Given the description of an element on the screen output the (x, y) to click on. 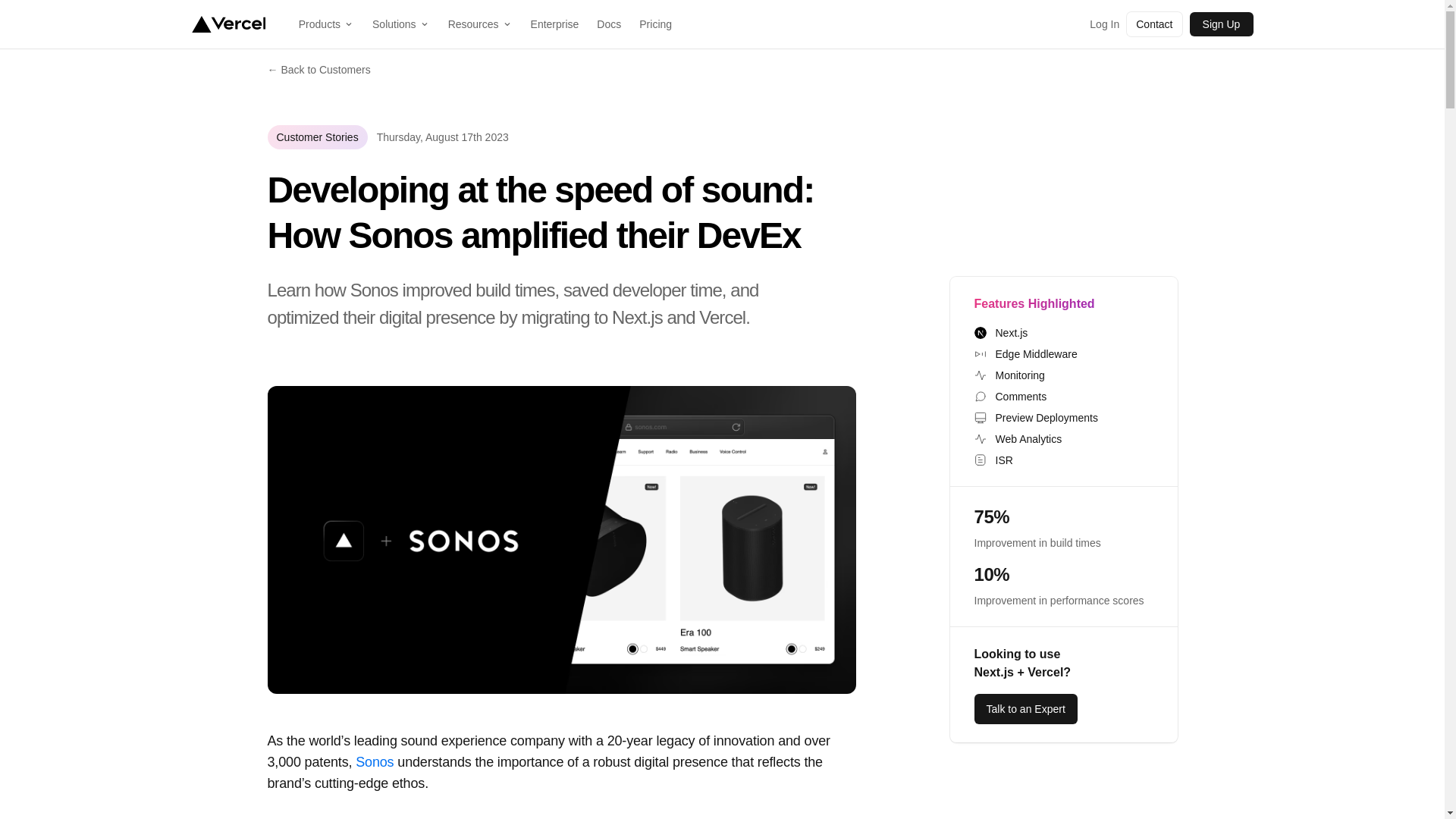
Sign Up (1220, 24)
Sonos (374, 761)
Docs (609, 24)
Solutions (400, 24)
Log In (1104, 23)
Customer Stories (316, 137)
Resources (480, 24)
Products (325, 24)
Contact (1153, 24)
Pricing (655, 24)
Enterprise (554, 24)
